Given the description of an element on the screen output the (x, y) to click on. 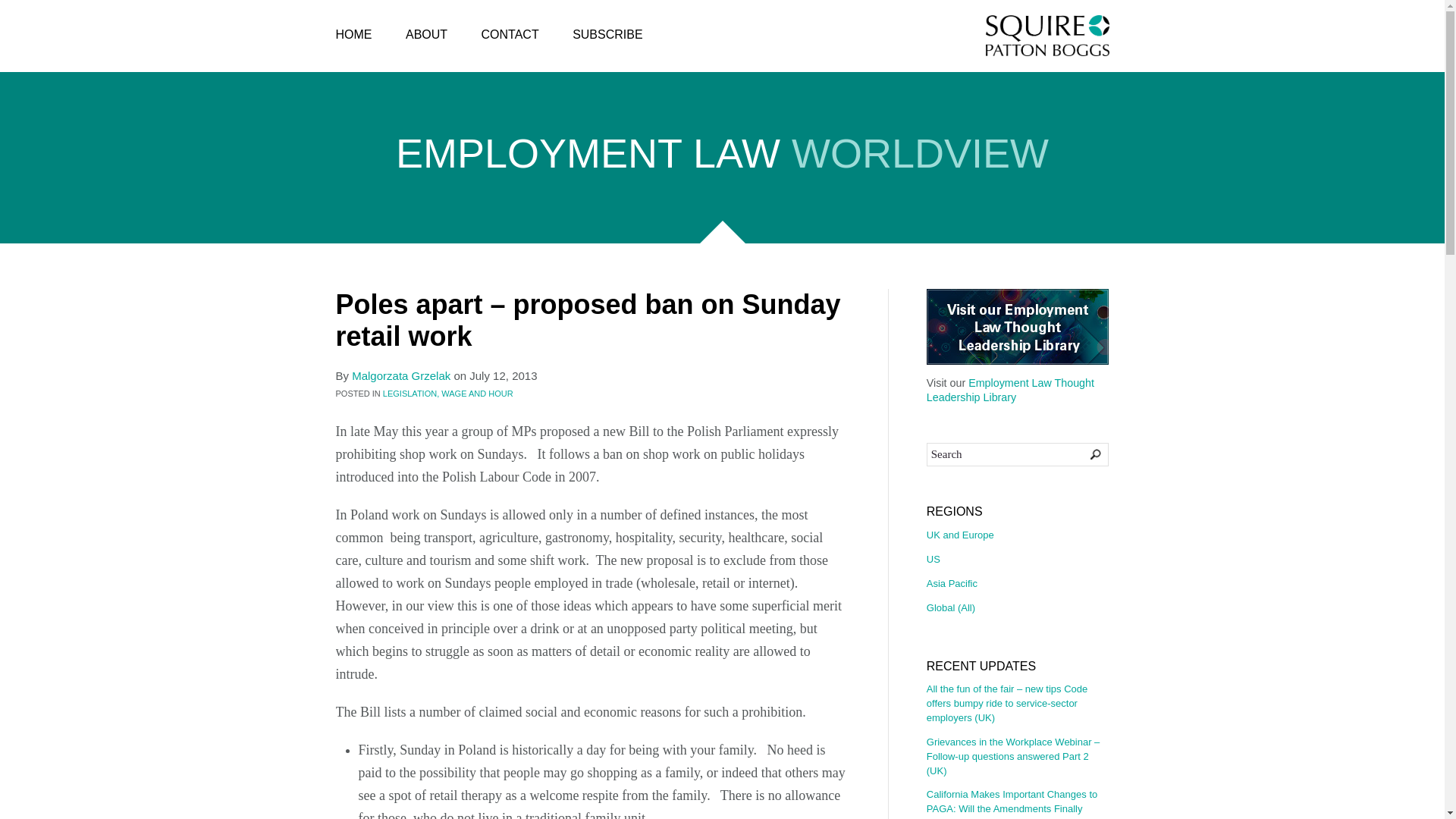
Squire Patton Boggs (1047, 35)
LEGISLATION, (410, 393)
Asia Pacific (1017, 584)
Search (1017, 454)
UK and Europe (1017, 537)
EMPLOYMENT LAW WORLDVIEW (721, 157)
Employment Law Thought Leadership Library (1010, 389)
Go (1085, 454)
Go (1085, 454)
SUBSCRIBE (607, 34)
